Given the description of an element on the screen output the (x, y) to click on. 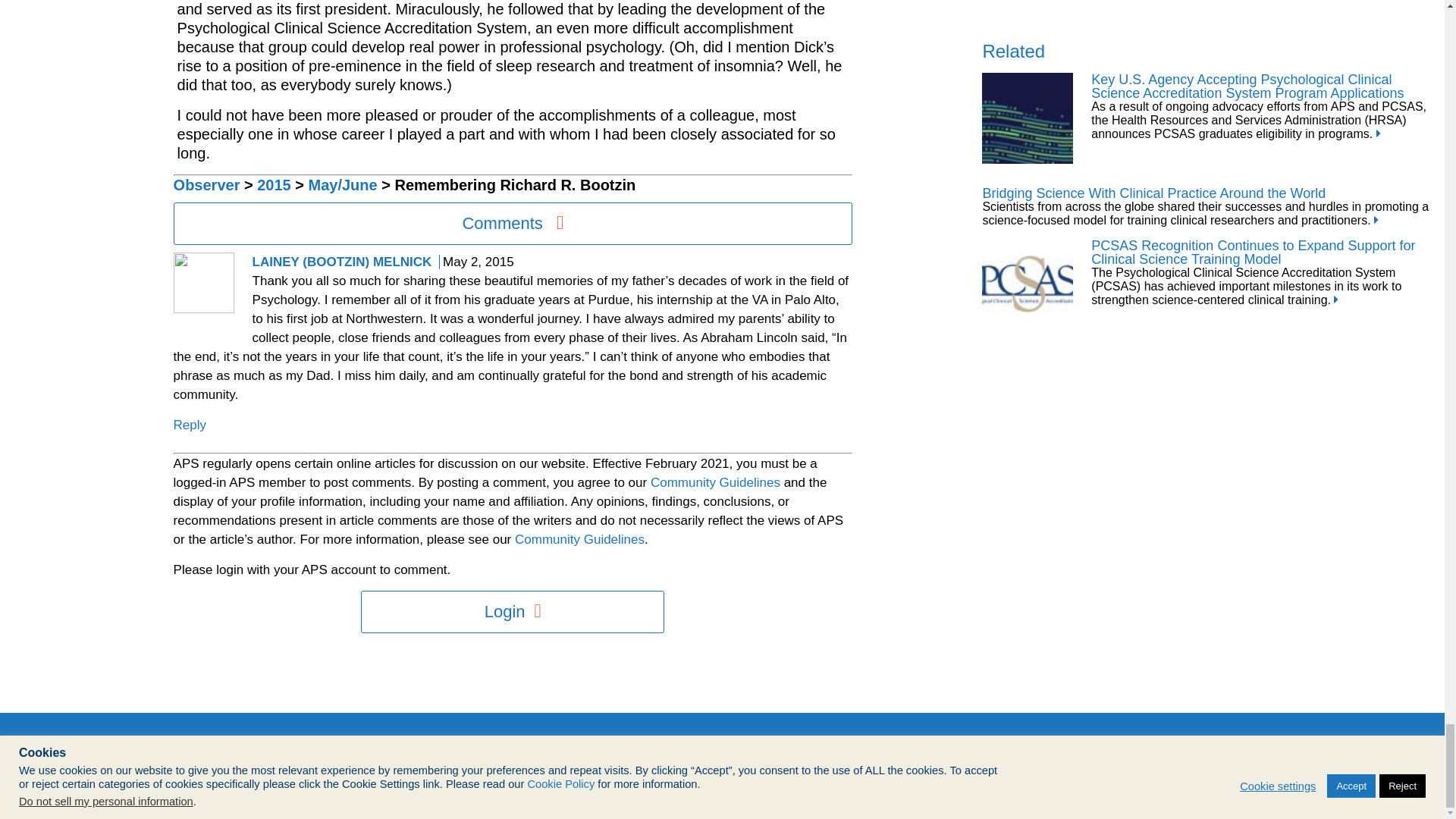
Go to Observer. (206, 184)
Go to the 2015 Issue archives. (274, 184)
